Given the description of an element on the screen output the (x, y) to click on. 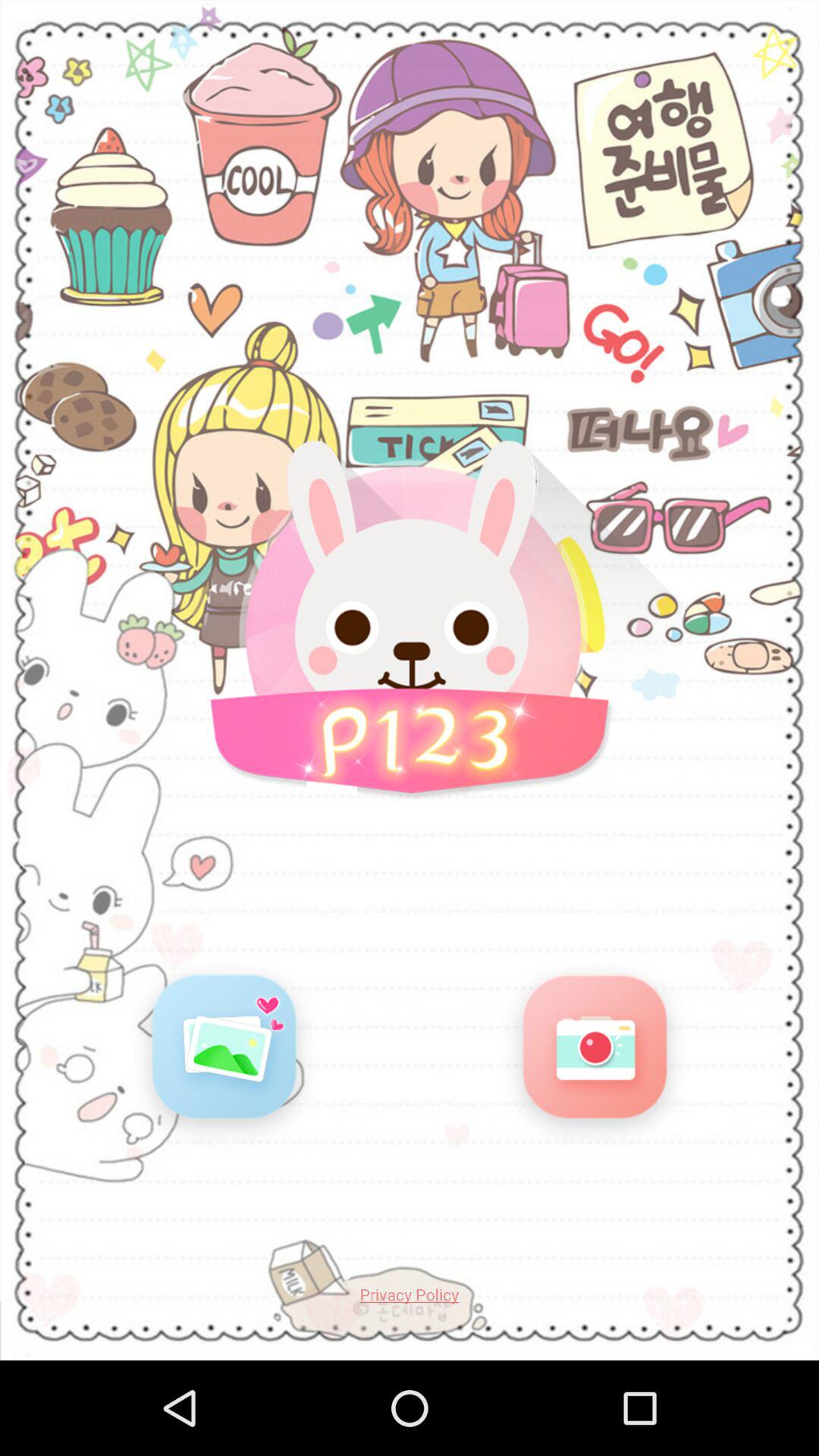
open camera (594, 1053)
